Given the description of an element on the screen output the (x, y) to click on. 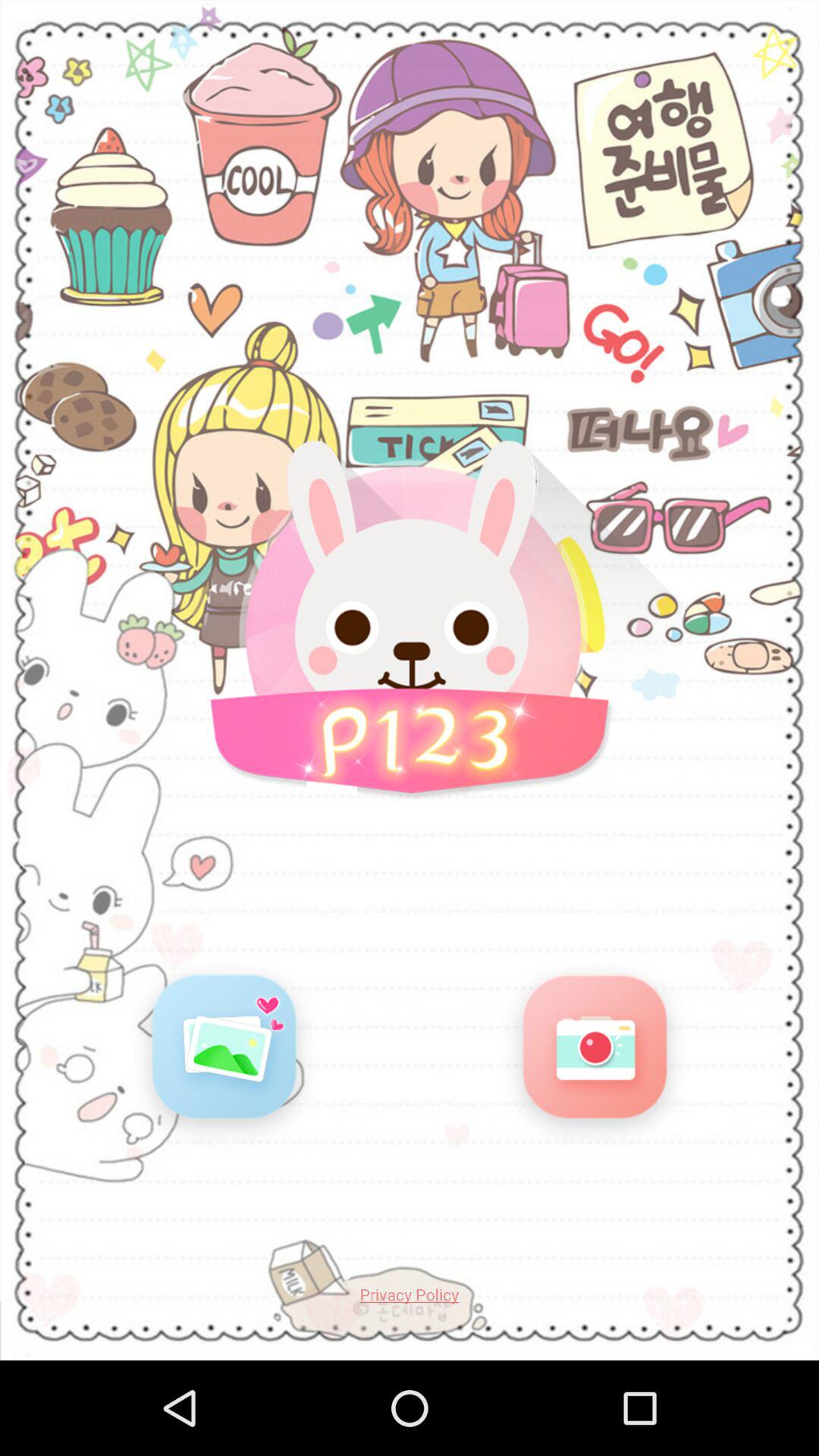
open camera (594, 1053)
